Given the description of an element on the screen output the (x, y) to click on. 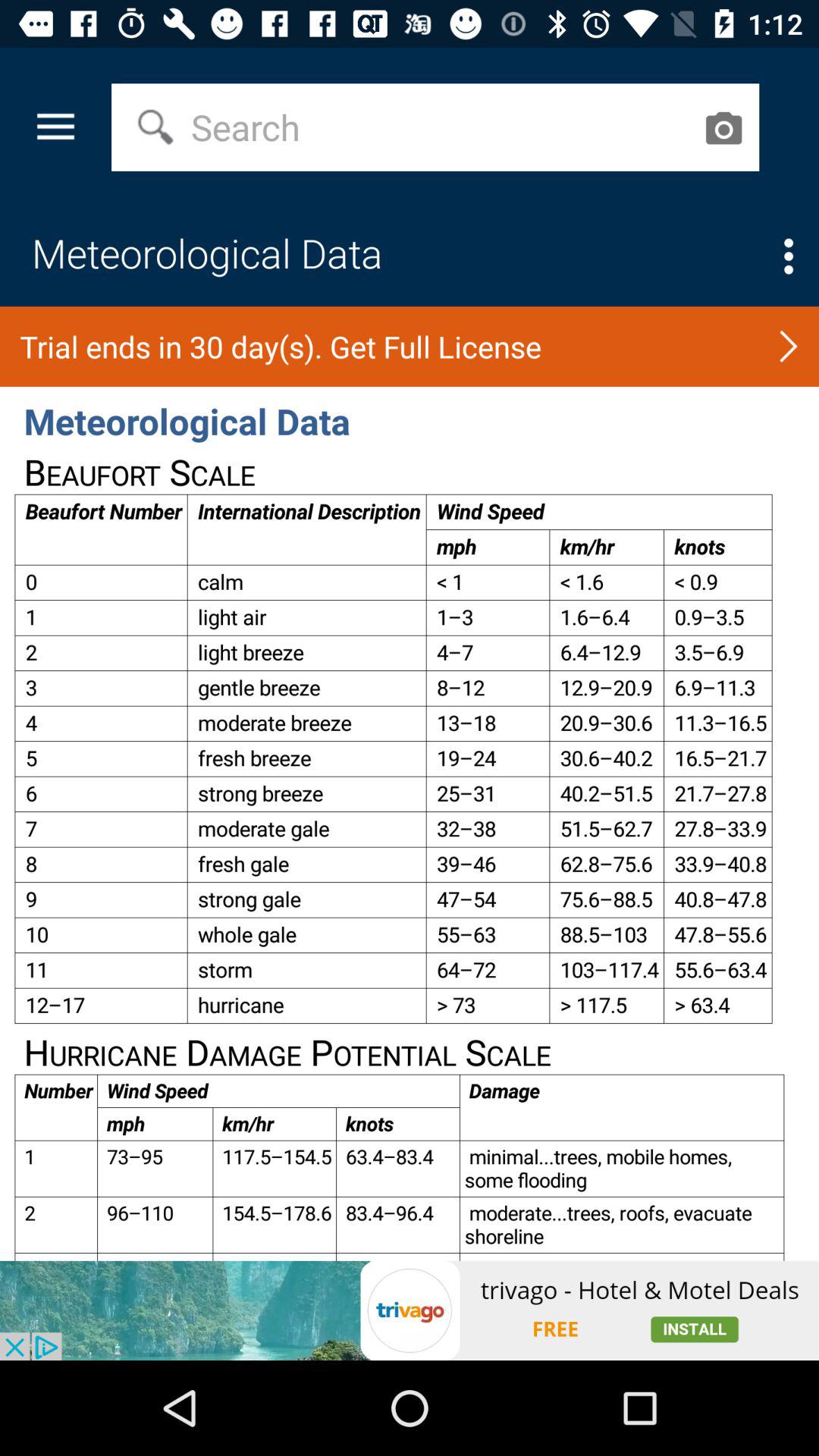
go to more information (788, 256)
